Given the description of an element on the screen output the (x, y) to click on. 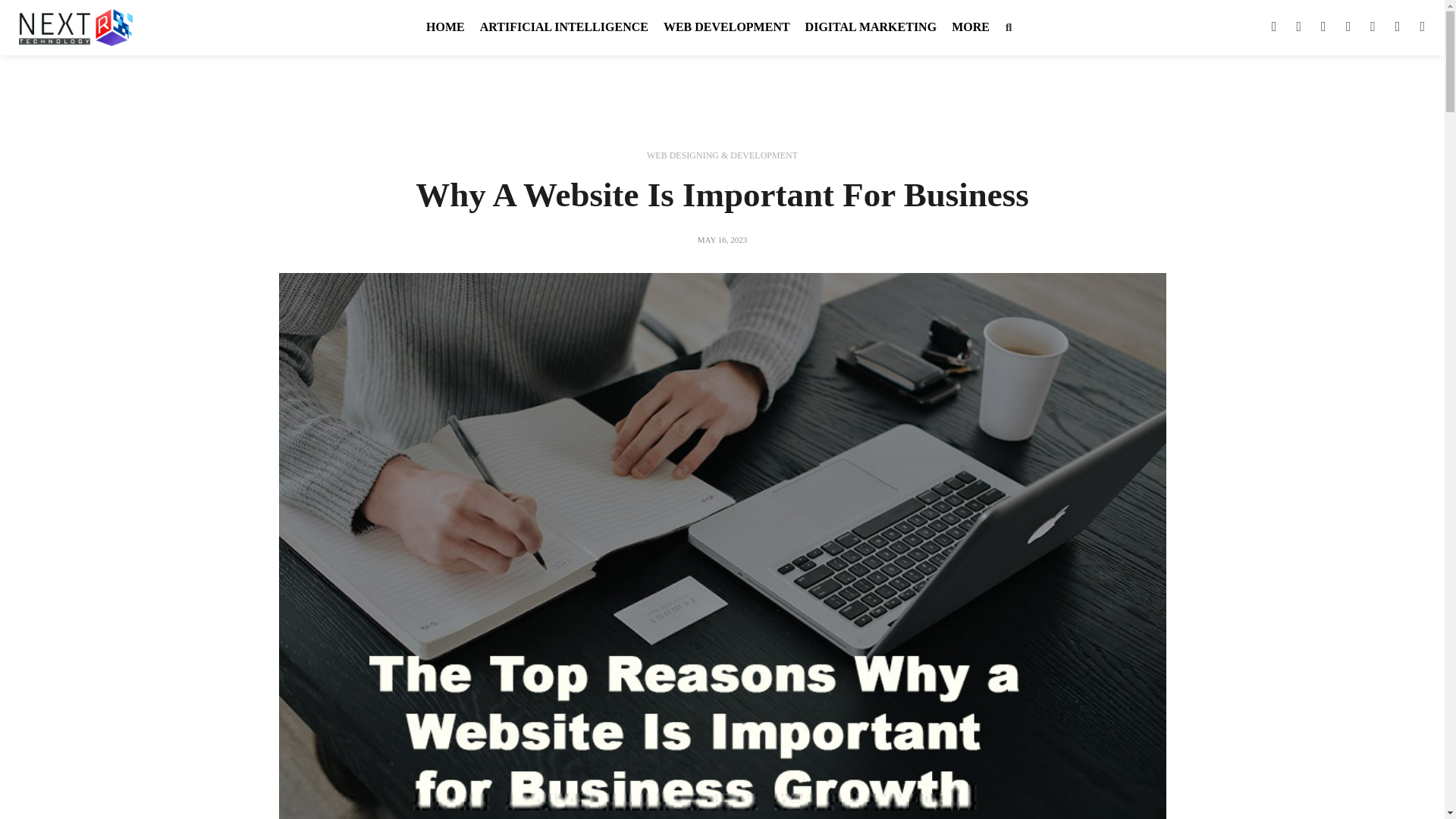
MORE (970, 27)
ARTIFICIAL INTELLIGENCE (564, 27)
HOME (446, 27)
WEB DEVELOPMENT (726, 27)
DIGITAL MARKETING (870, 27)
